Given the description of an element on the screen output the (x, y) to click on. 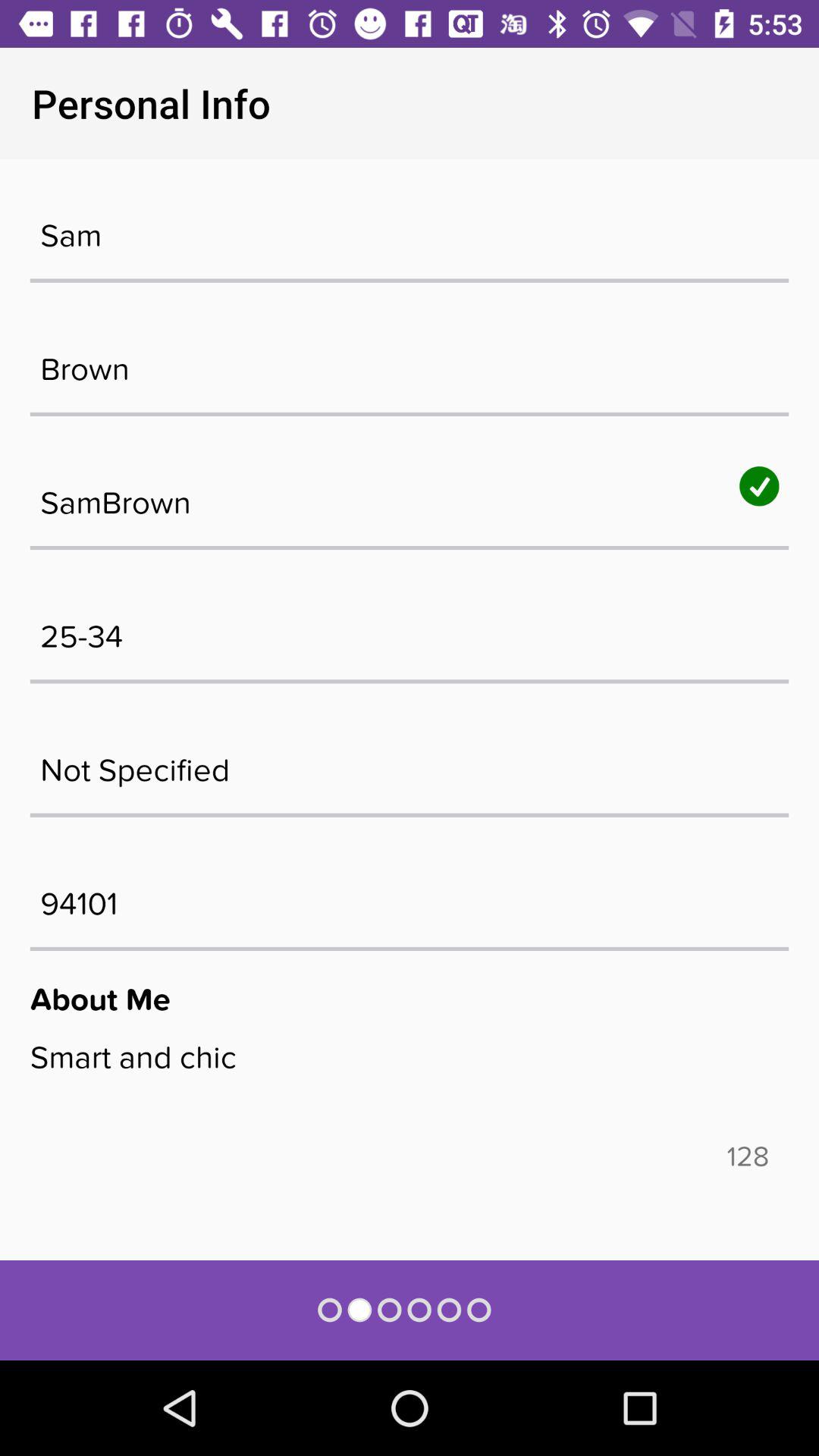
choose sam item (409, 227)
